Given the description of an element on the screen output the (x, y) to click on. 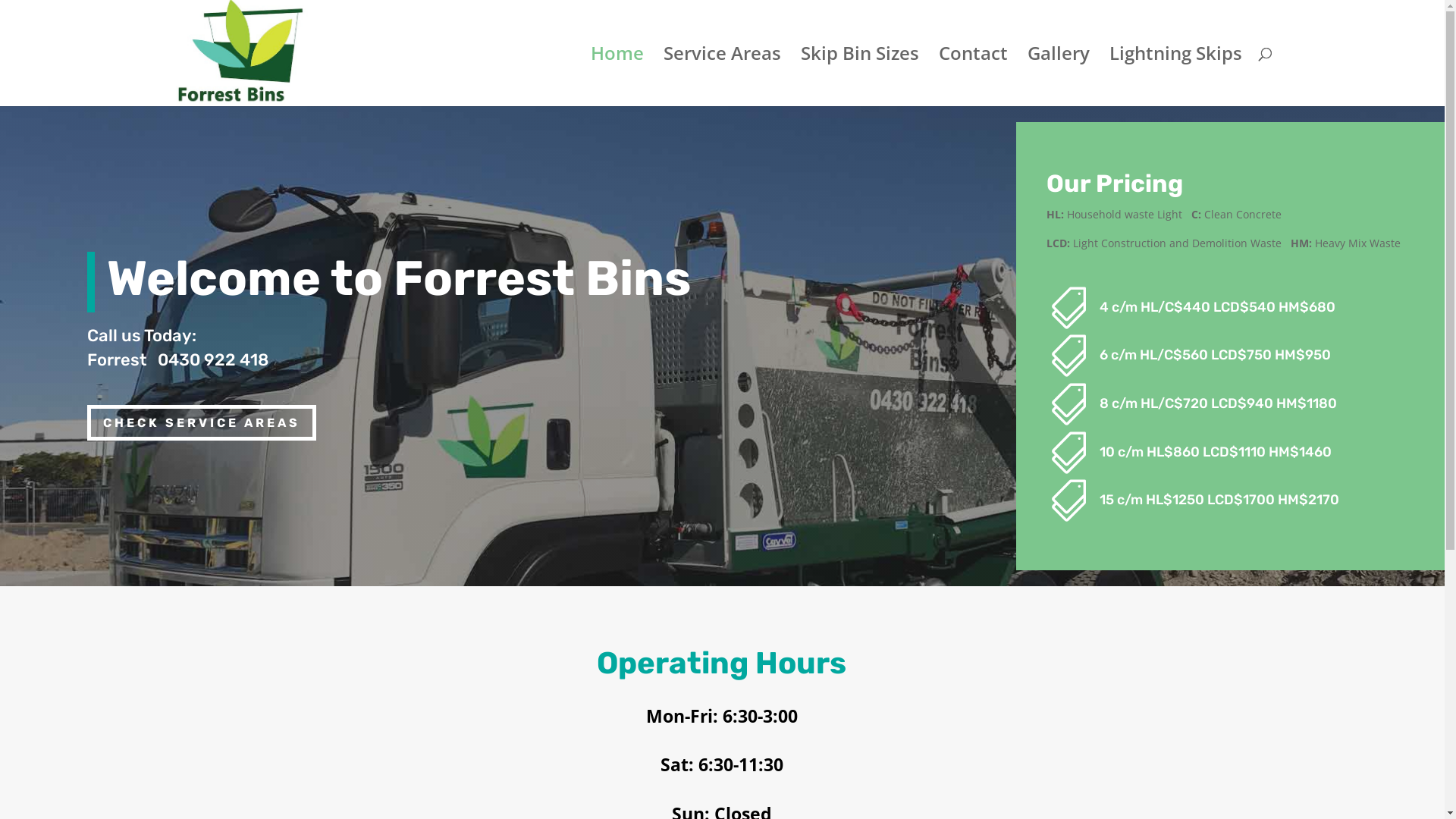
Service Areas Element type: text (721, 76)
CHECK SERVICE AREAS Element type: text (201, 422)
15 c/m HL$1250 LCD$1700 HM$2170 Element type: text (1219, 499)
10 c/m HL$860 LCD$1110 HM$1460 Element type: text (1215, 451)
0430 922 418 Element type: text (212, 359)
8 c/m HL/C$720 LCD$940 HM$1180 Element type: text (1217, 403)
Skip Bin Sizes Element type: text (859, 76)
Home Element type: text (616, 76)
6 c/m HL/C$560 LCD$750 HM$950 Element type: text (1214, 354)
4 c/m HL/C$440 LCD$540 HM$680 Element type: text (1217, 306)
Lightning Skips Element type: text (1174, 76)
Contact Element type: text (972, 76)
Gallery Element type: text (1057, 76)
